Given the description of an element on the screen output the (x, y) to click on. 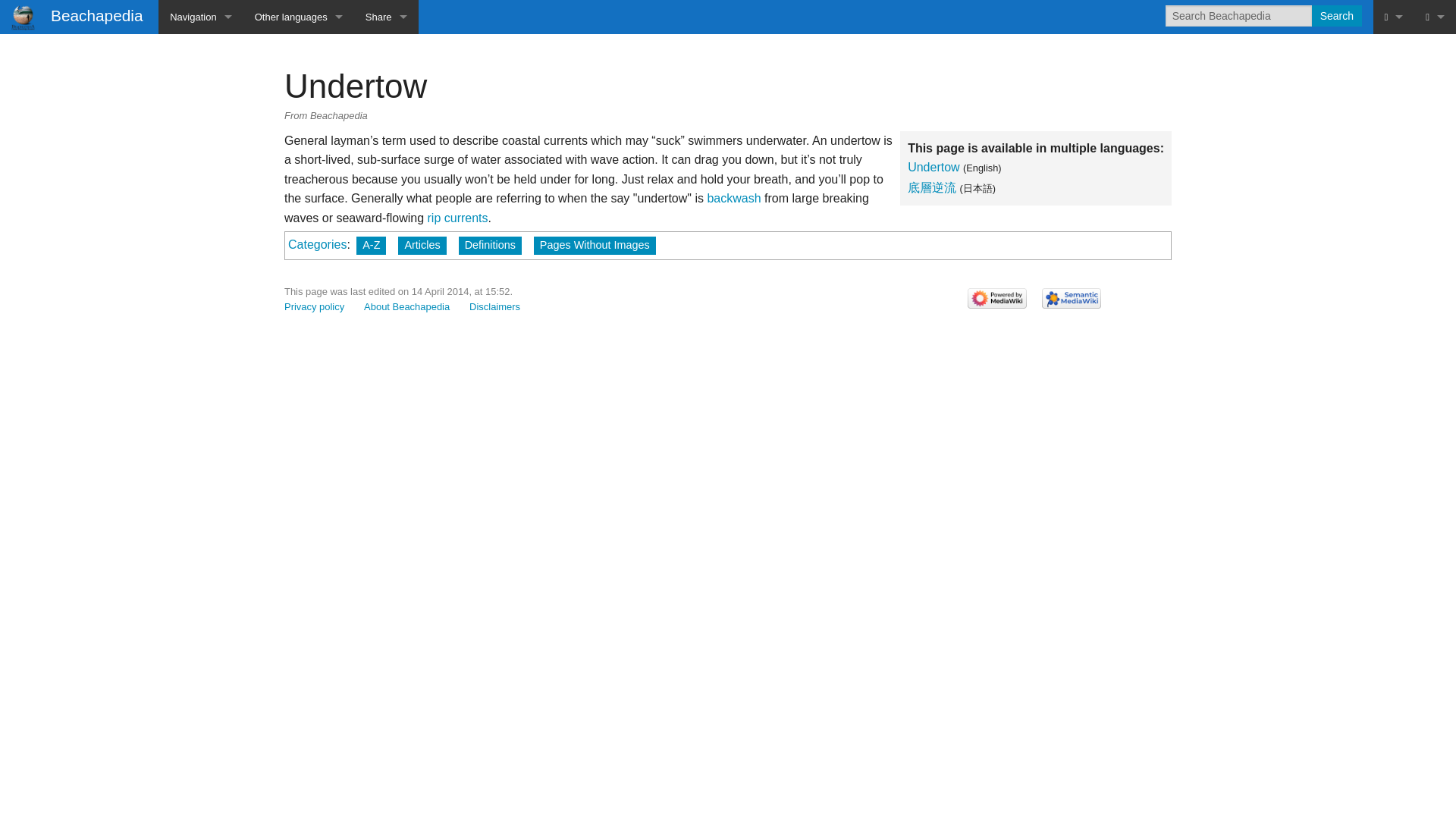
Printable version (1393, 153)
Beachapedia (78, 15)
Browse articles (200, 84)
Special:RecentChanges (1393, 324)
Page information (1393, 221)
Nederlands (298, 255)
Category:A-Z (370, 245)
Permanent link to this revision of the page (1393, 187)
Special:Categories (317, 244)
The place to find out (200, 187)
Deutsch (298, 50)
Related changes (1393, 84)
Rip currents (457, 217)
Svenska (298, 324)
Italiano (298, 221)
